Given the description of an element on the screen output the (x, y) to click on. 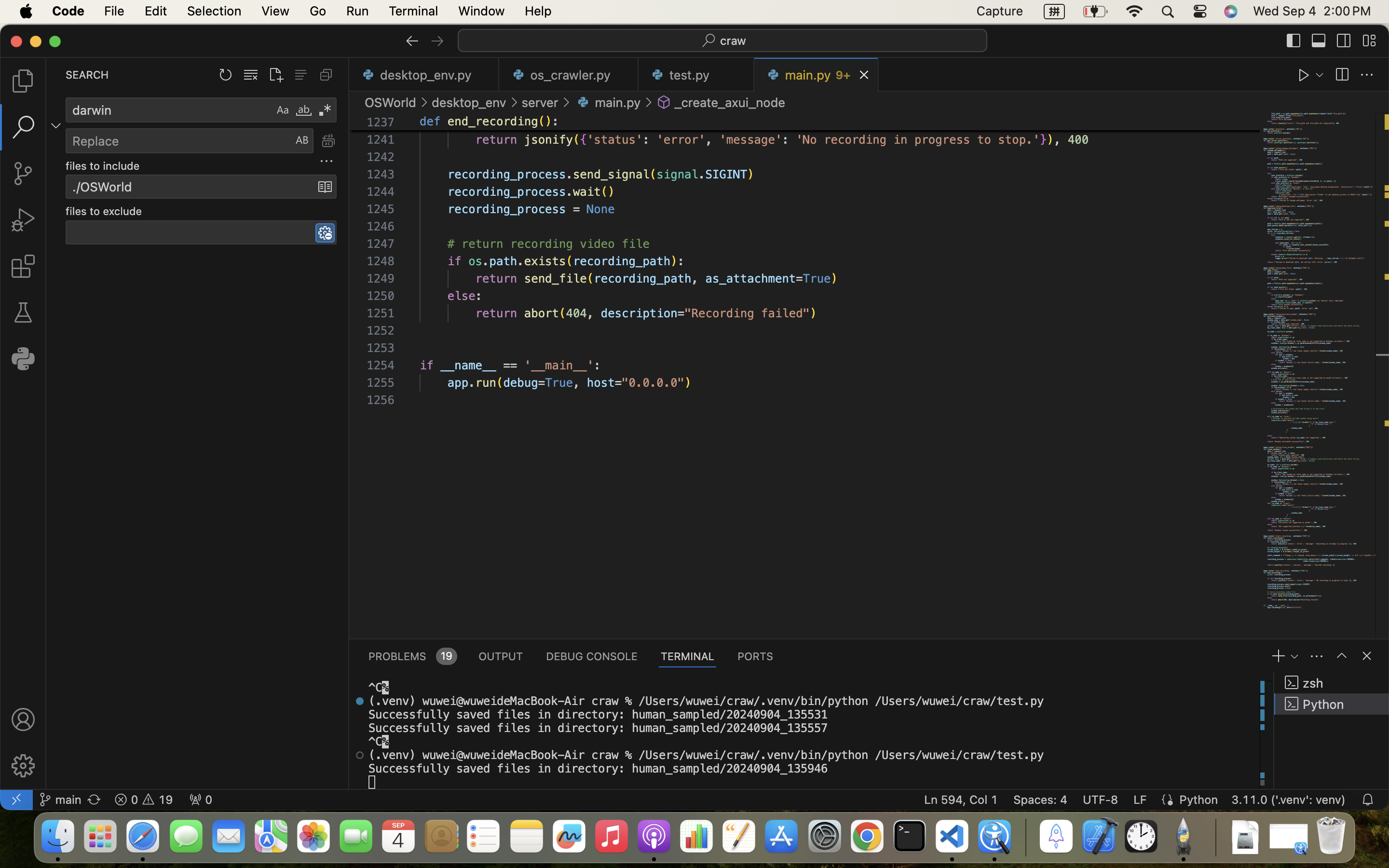
darwin Element type: AXTextArea (169, 109)
 Element type: AXButton (437, 40)
0  Element type: AXRadioButton (23, 312)
desktop_env Element type: AXGroup (469, 101)
main.py  Element type: AXGroup (607, 101)
